Given the description of an element on the screen output the (x, y) to click on. 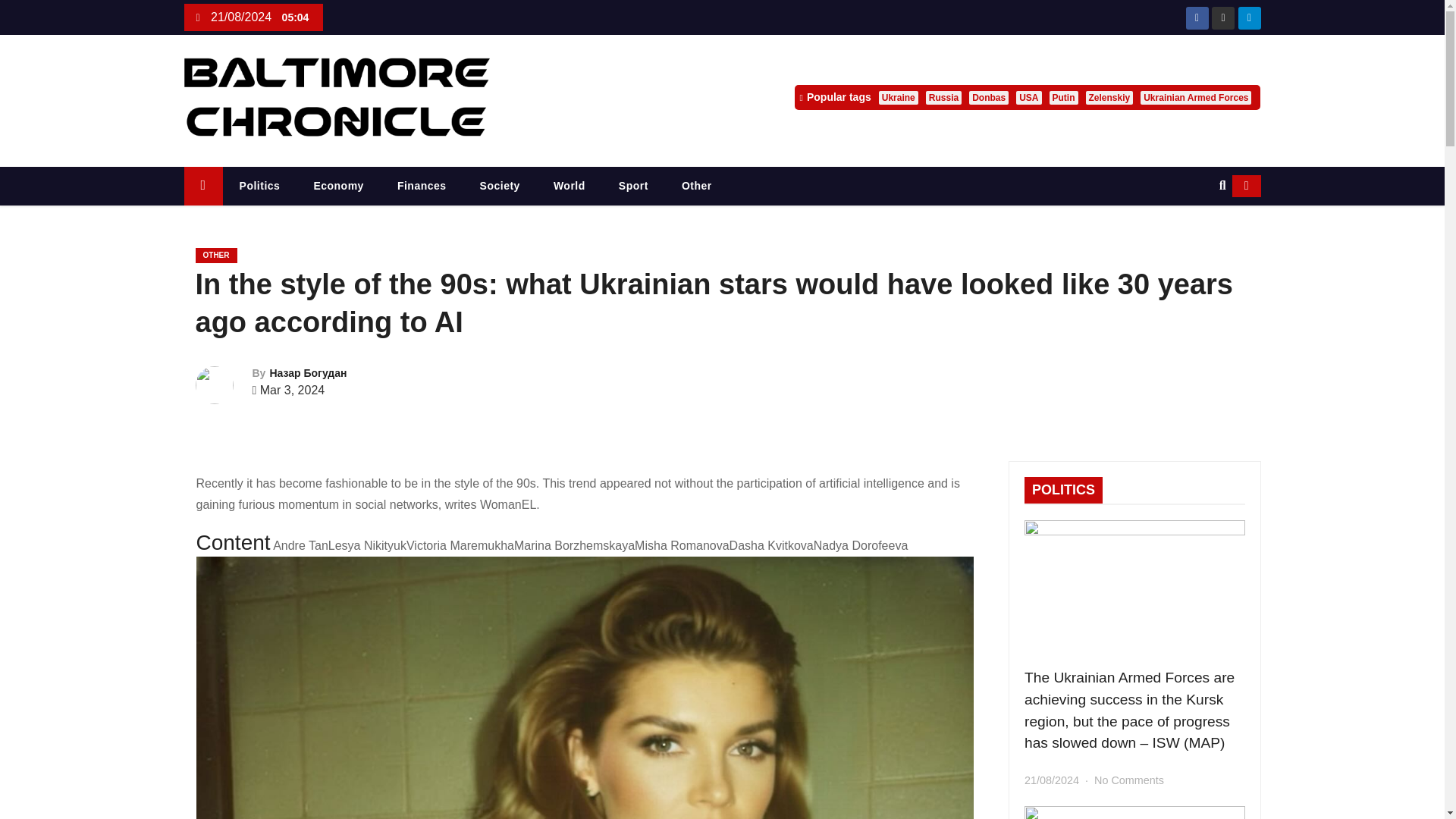
Politics (259, 186)
Donbas (989, 97)
Politics (259, 186)
Other (697, 186)
Home (202, 186)
World (569, 186)
Society (500, 186)
Society (500, 186)
Finances (421, 186)
Finances (421, 186)
